Given the description of an element on the screen output the (x, y) to click on. 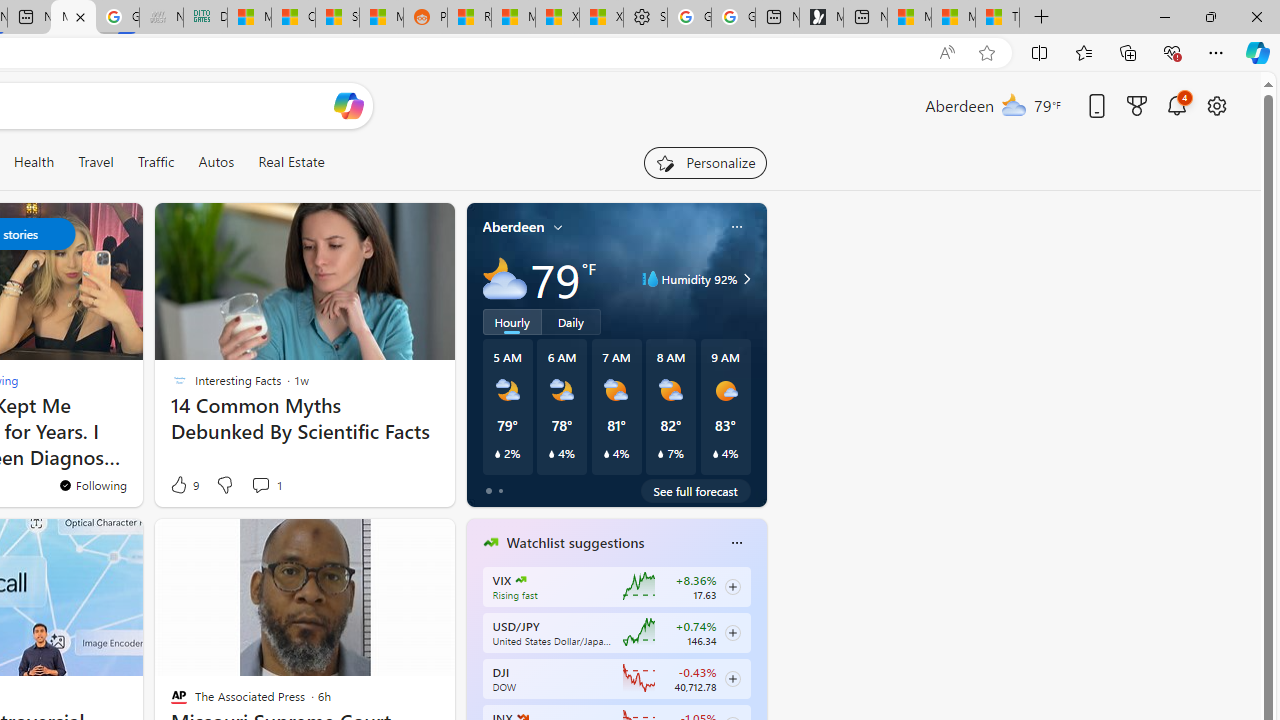
Class: weather-current-precipitation-glyph (715, 453)
CBOE Market Volatility Index (520, 579)
View comments 1 Comment (265, 484)
Microsoft Start Gaming (821, 17)
Mostly cloudy (504, 278)
9 Like (183, 484)
Real Estate (290, 162)
These 3 Stocks Pay You More Than 5% to Own Them (996, 17)
Open settings (1216, 105)
Class: weather-arrow-glyph (746, 278)
